Given the description of an element on the screen output the (x, y) to click on. 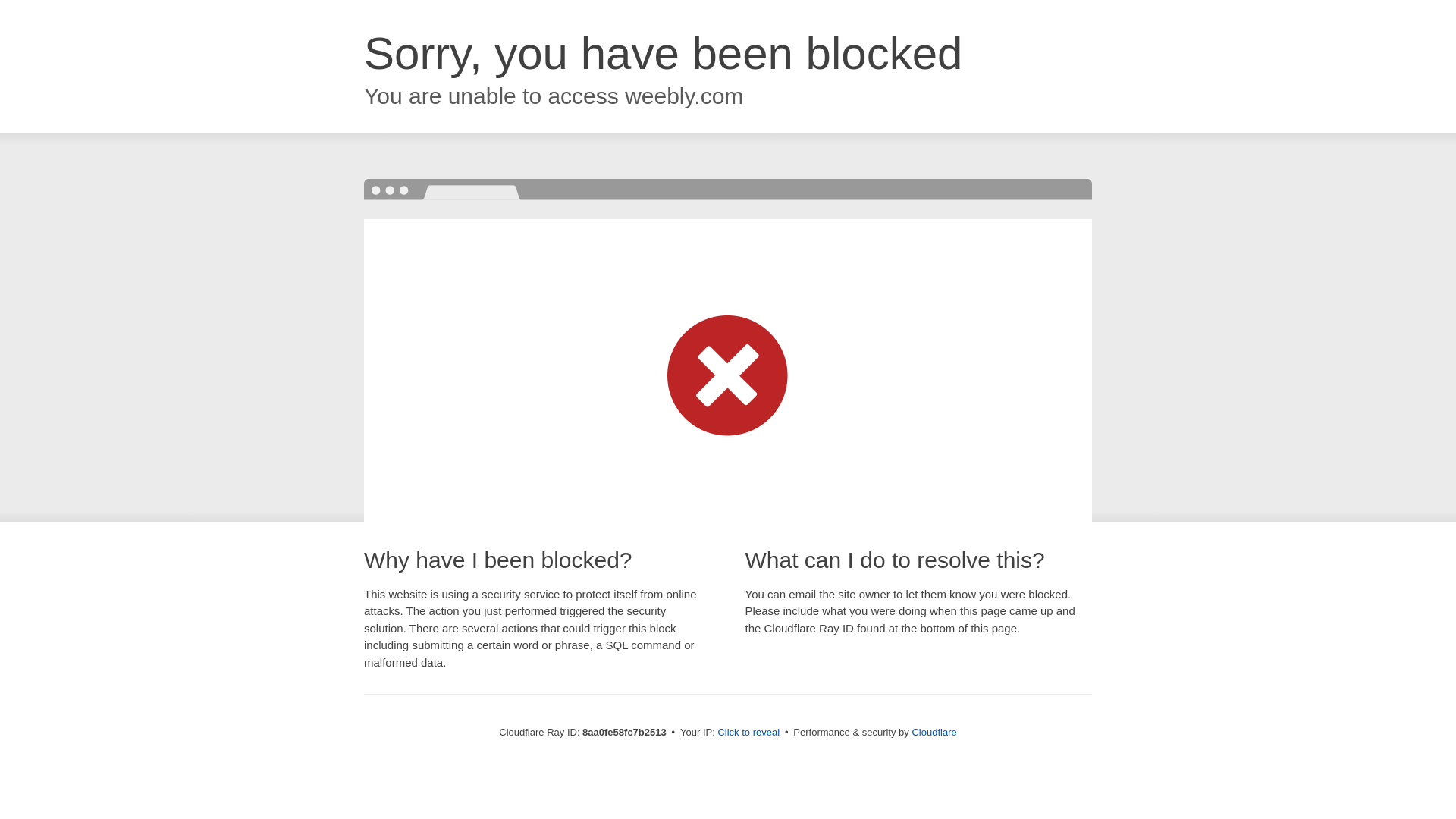
Click to reveal (747, 732)
Cloudflare (933, 731)
